Given the description of an element on the screen output the (x, y) to click on. 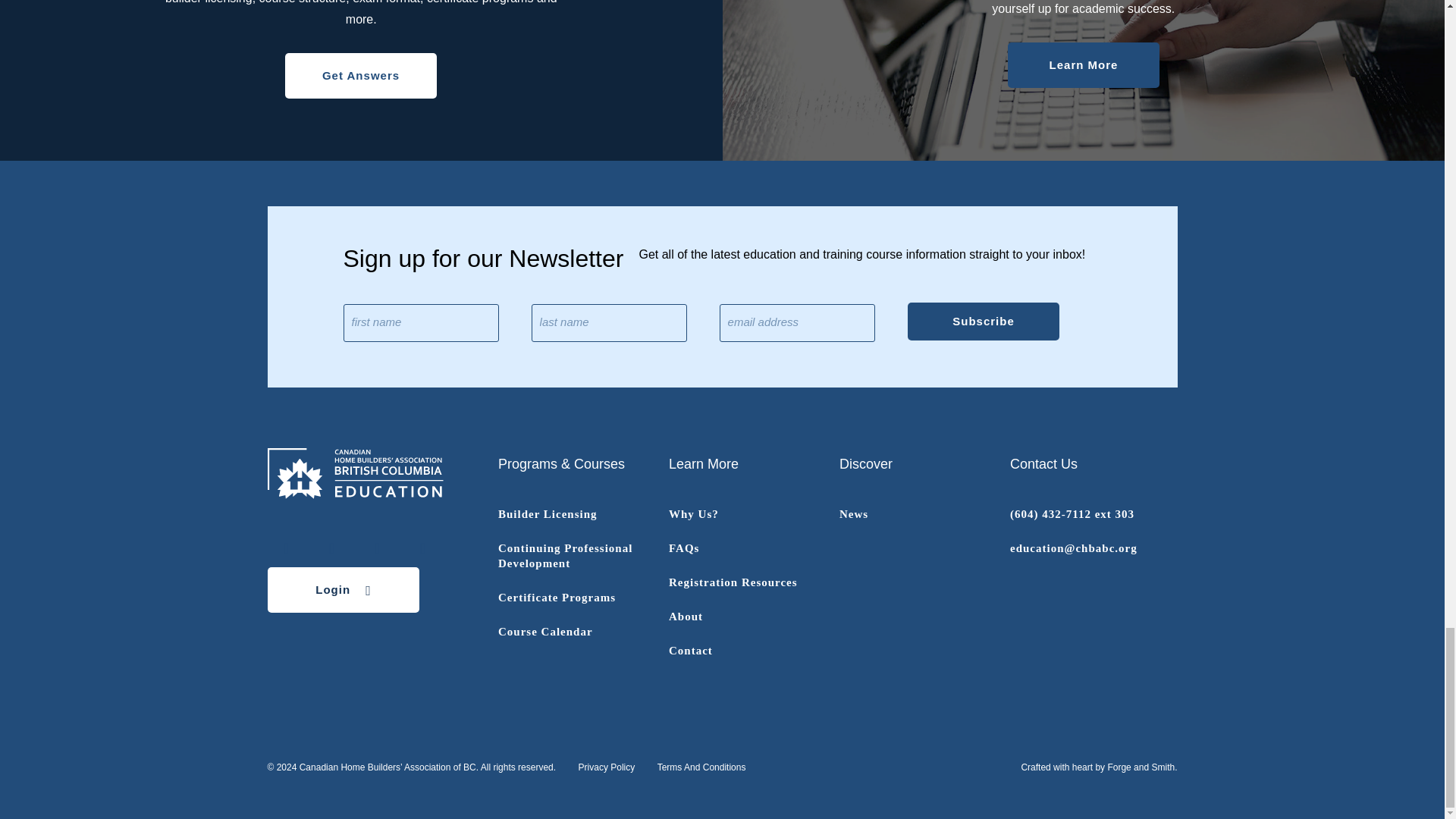
Subscribe (983, 321)
Subscribe (983, 321)
Certificate Programs (556, 597)
Get Answers (360, 75)
Why Us? (693, 513)
Continuing Professional Development (564, 555)
Login (342, 589)
Course Calendar (544, 631)
Builder Licensing (546, 513)
Learn More (1082, 64)
Registration Resources (732, 582)
FAQs (683, 548)
